Given the description of an element on the screen output the (x, y) to click on. 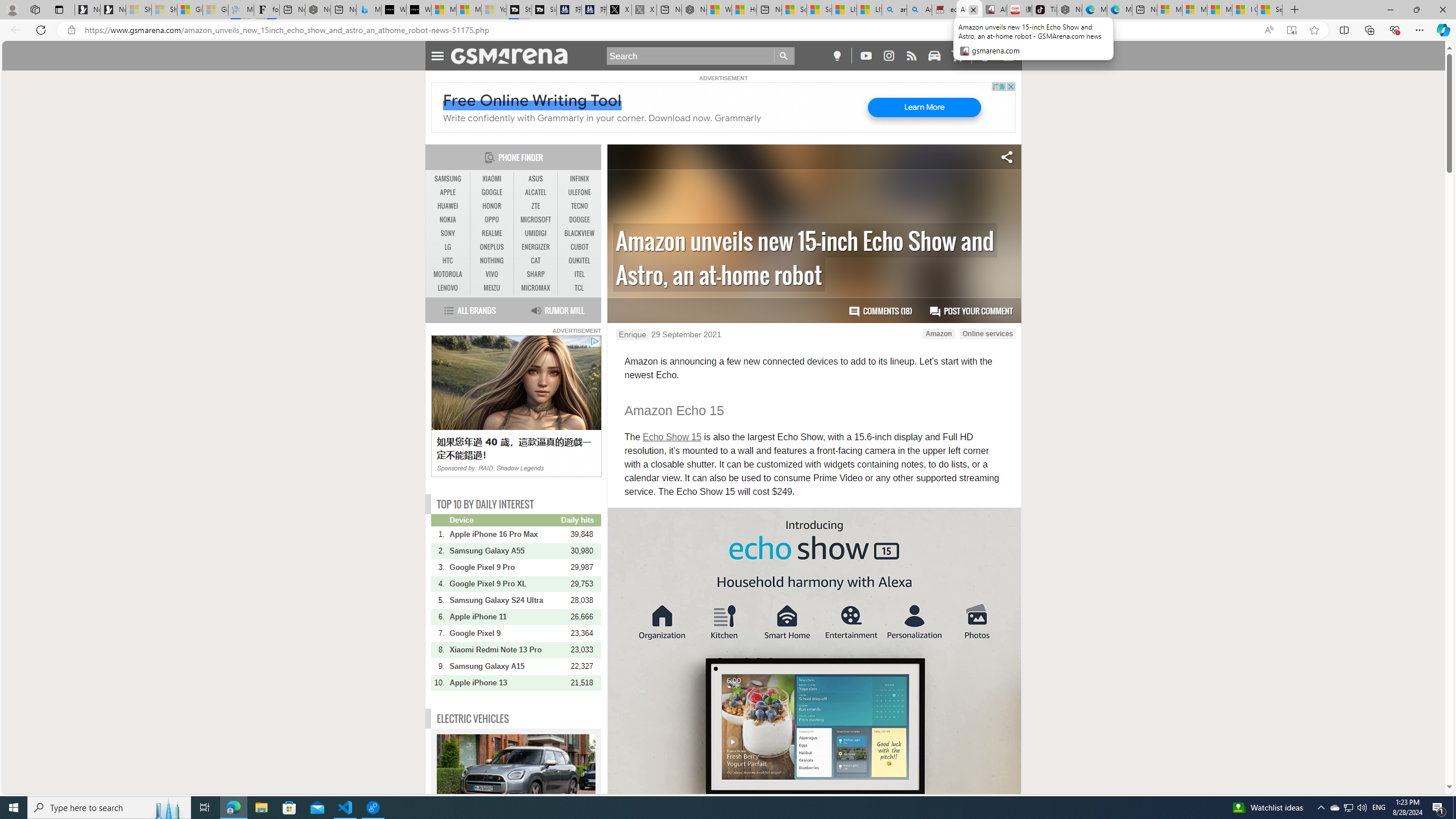
XIAOMI (491, 178)
MICROSOFT (535, 219)
HTC (448, 260)
INFINIX (579, 178)
AutomationID: anchor (513, 55)
Class: creative__ad-choice_image (593, 341)
CAT (535, 260)
MOTOROLA (448, 273)
CUBOT (579, 246)
Google Pixel 9 Pro (504, 566)
ITEL (579, 273)
